Given the description of an element on the screen output the (x, y) to click on. 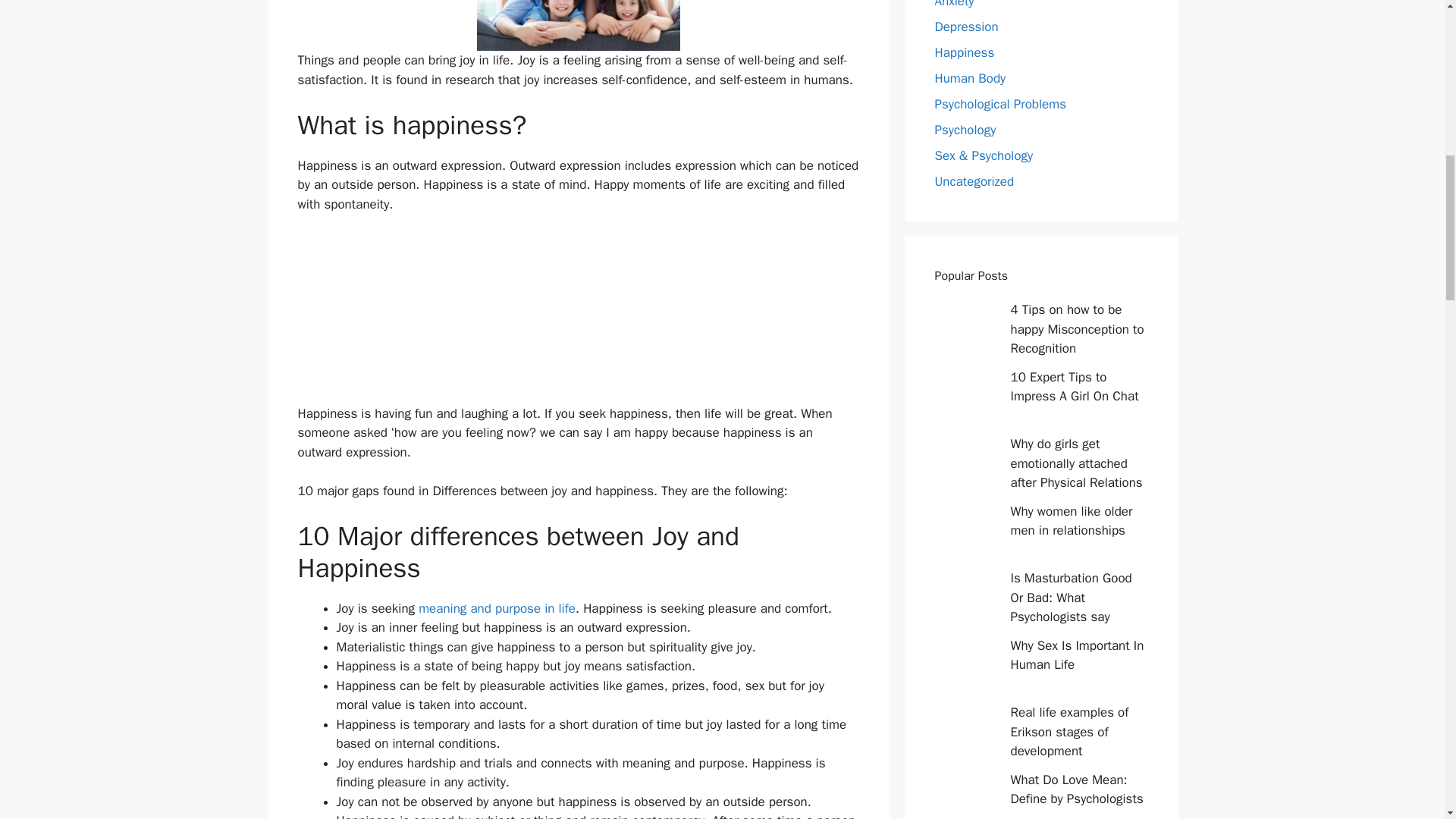
meaning and purpose in life (497, 608)
